Given the description of an element on the screen output the (x, y) to click on. 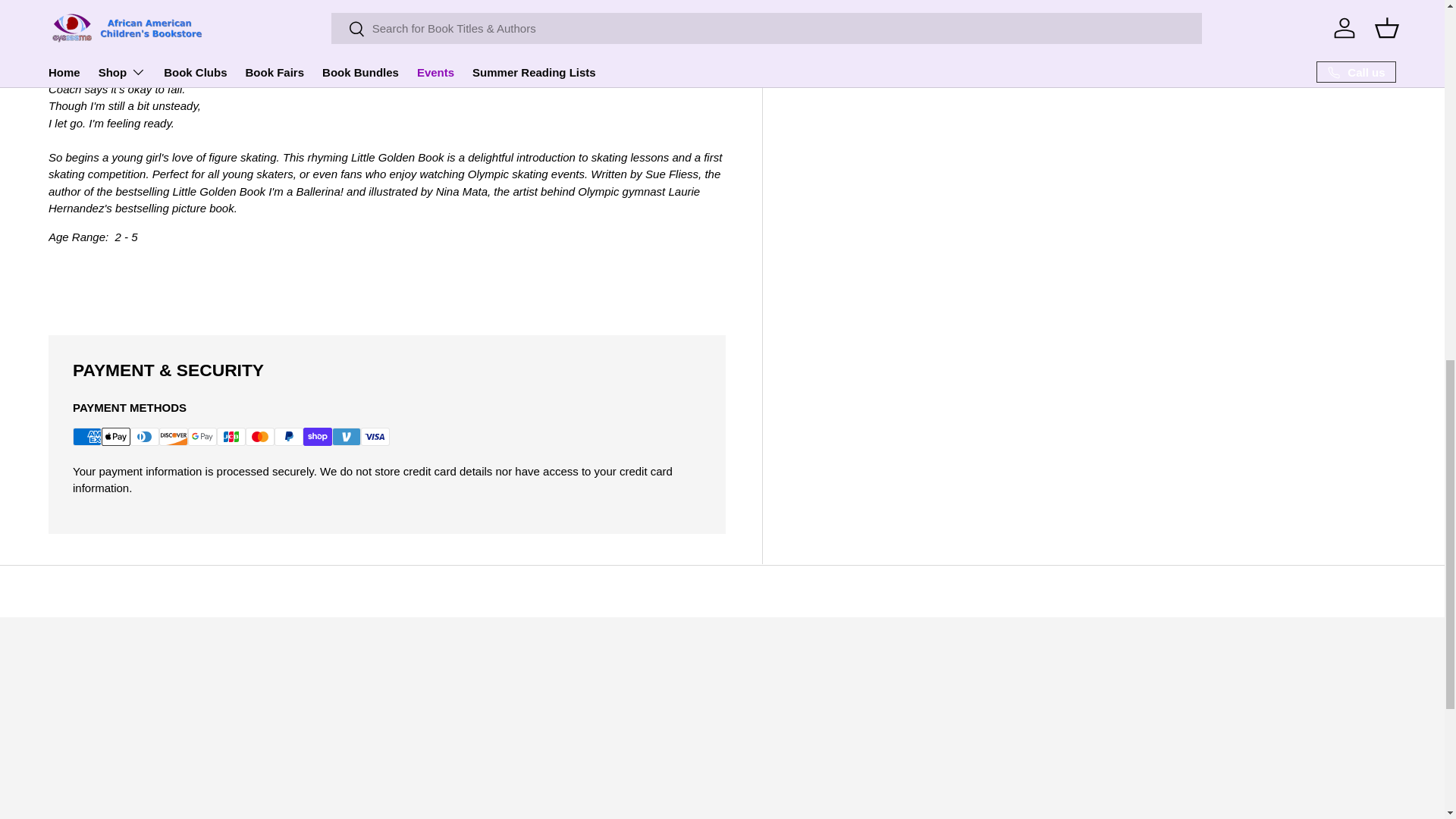
Apple Pay (116, 436)
American Express (86, 436)
Diners Club (144, 436)
Google Pay (201, 436)
Discover (172, 436)
JCB (231, 436)
Mastercard (260, 436)
